Given the description of an element on the screen output the (x, y) to click on. 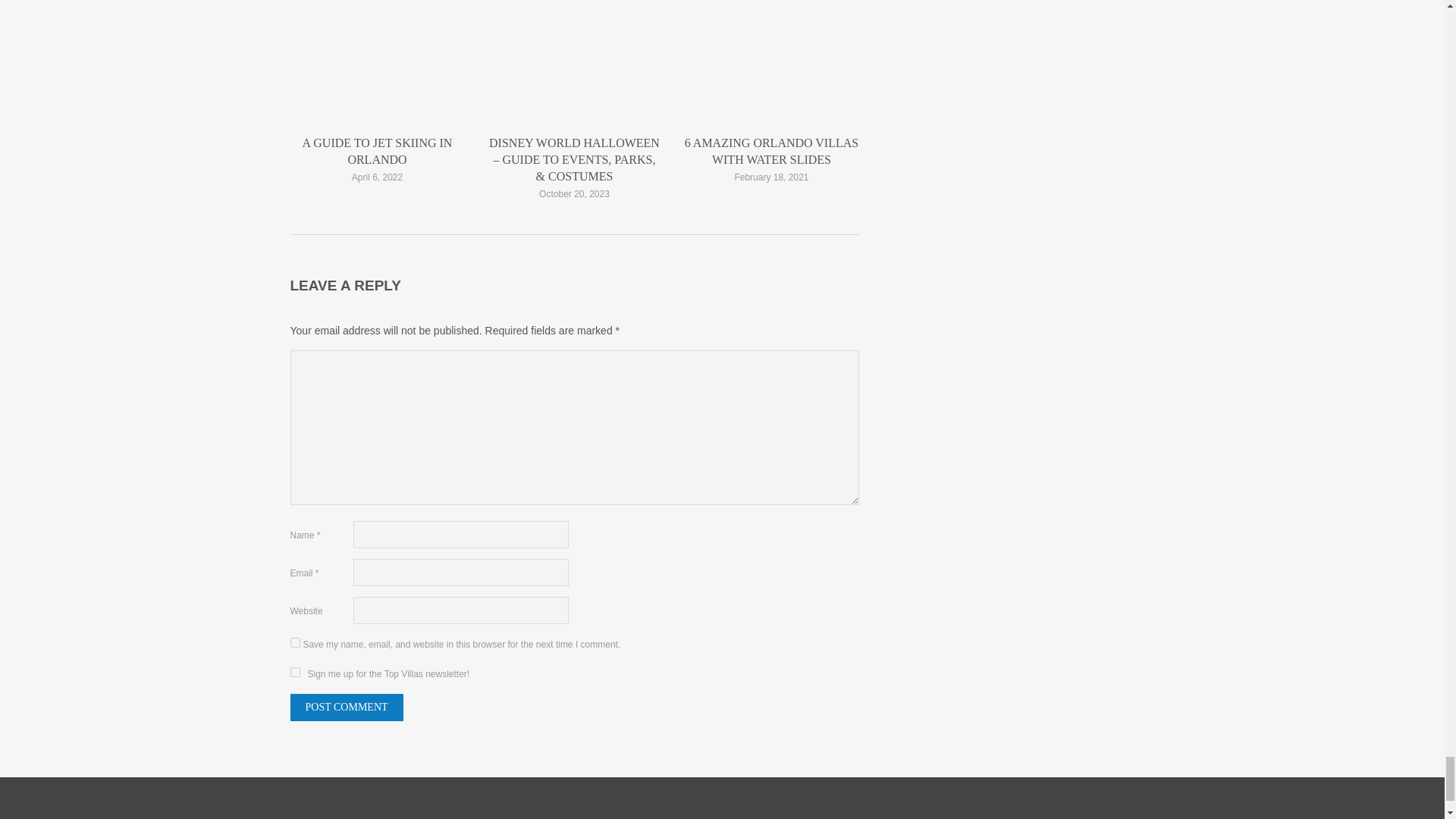
yes (294, 642)
Post Comment (346, 707)
1 (294, 672)
